Given the description of an element on the screen output the (x, y) to click on. 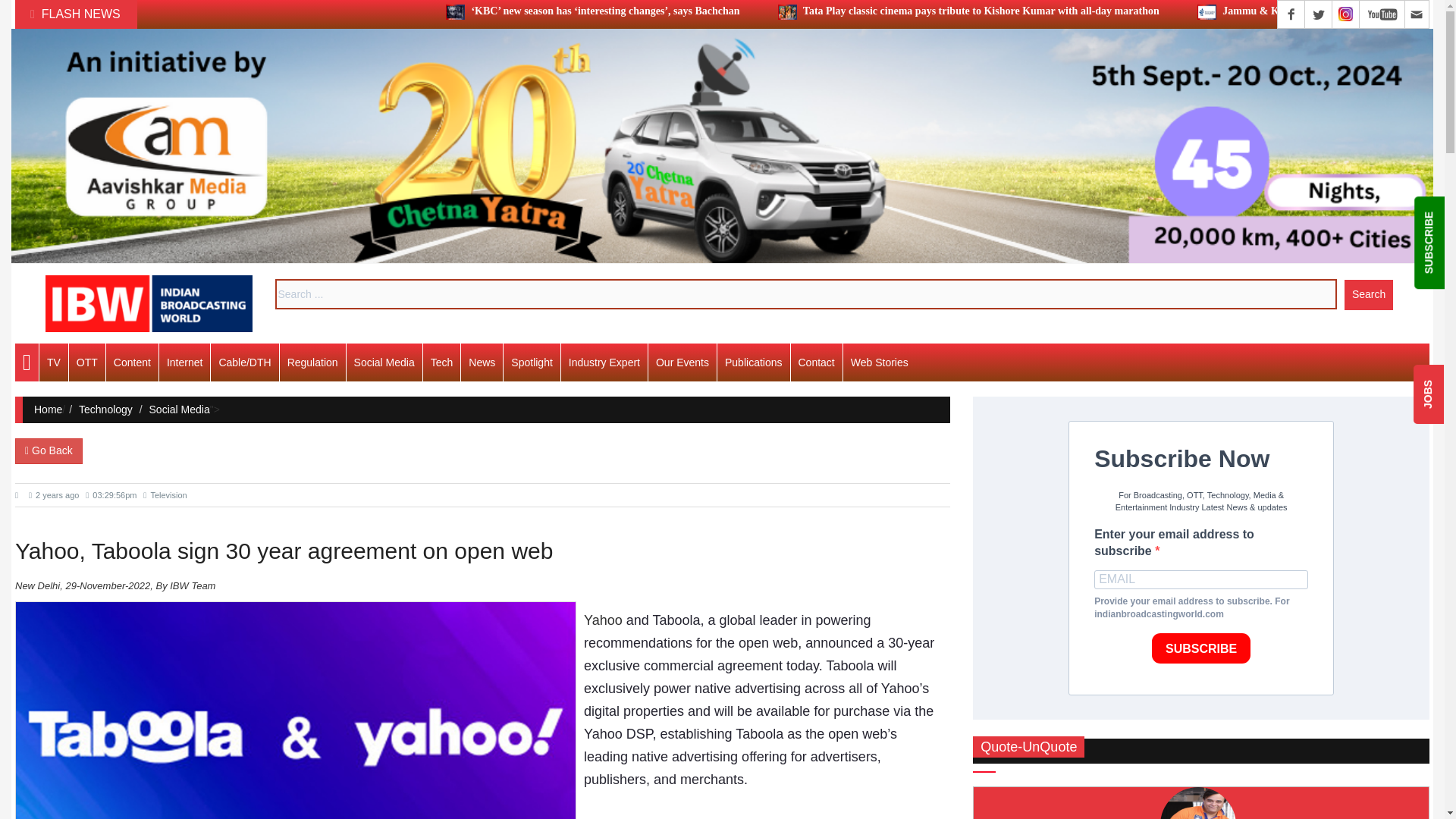
Internet (183, 361)
Content (131, 361)
Search (1368, 294)
Search (1368, 294)
Search (1368, 294)
OTT (86, 361)
